Given the description of an element on the screen output the (x, y) to click on. 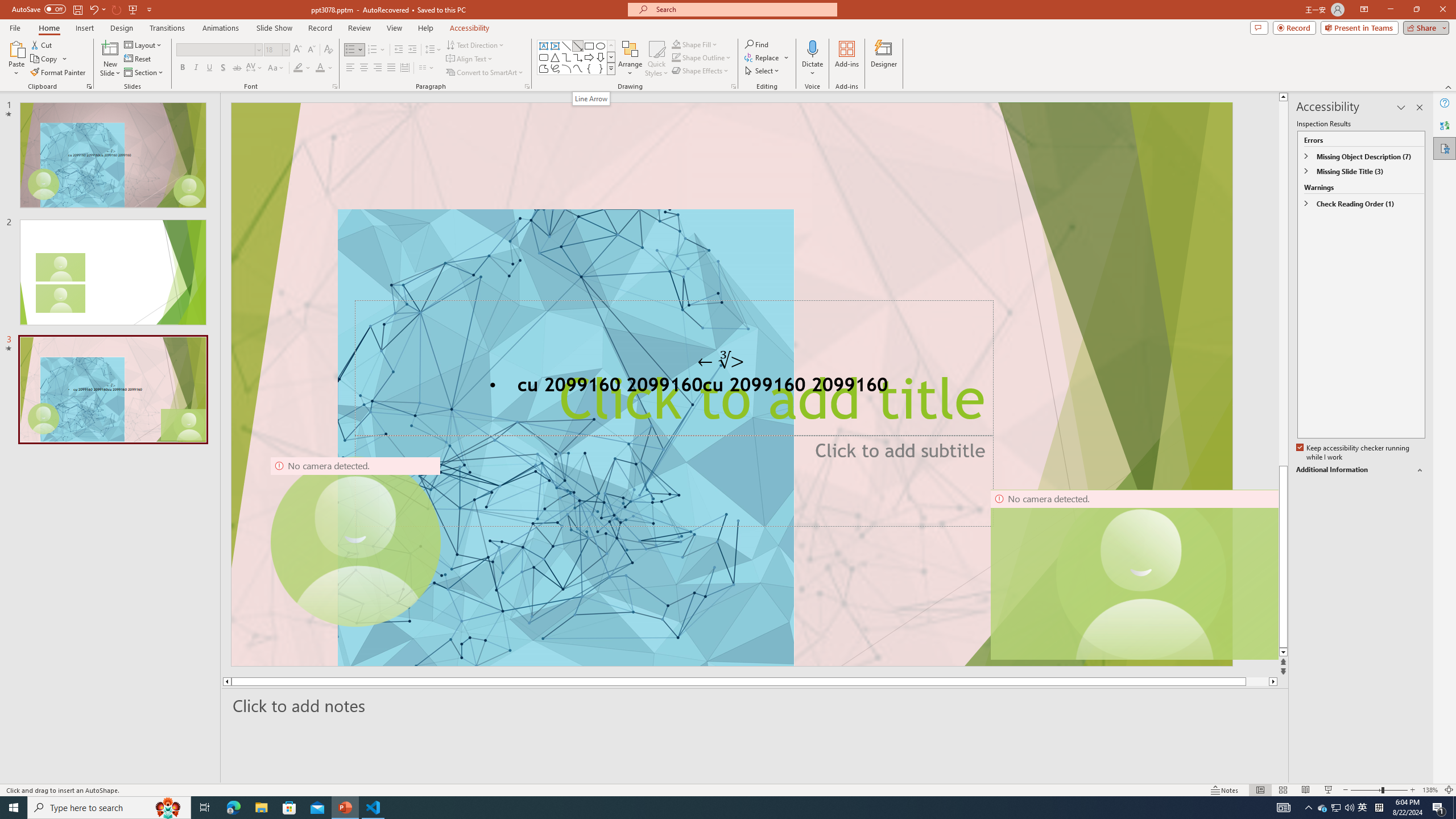
Additional Information (1360, 469)
Clear Formatting (327, 49)
Justify (390, 67)
Shape Effects (700, 69)
Decrease Indent (398, 49)
